Given the description of an element on the screen output the (x, y) to click on. 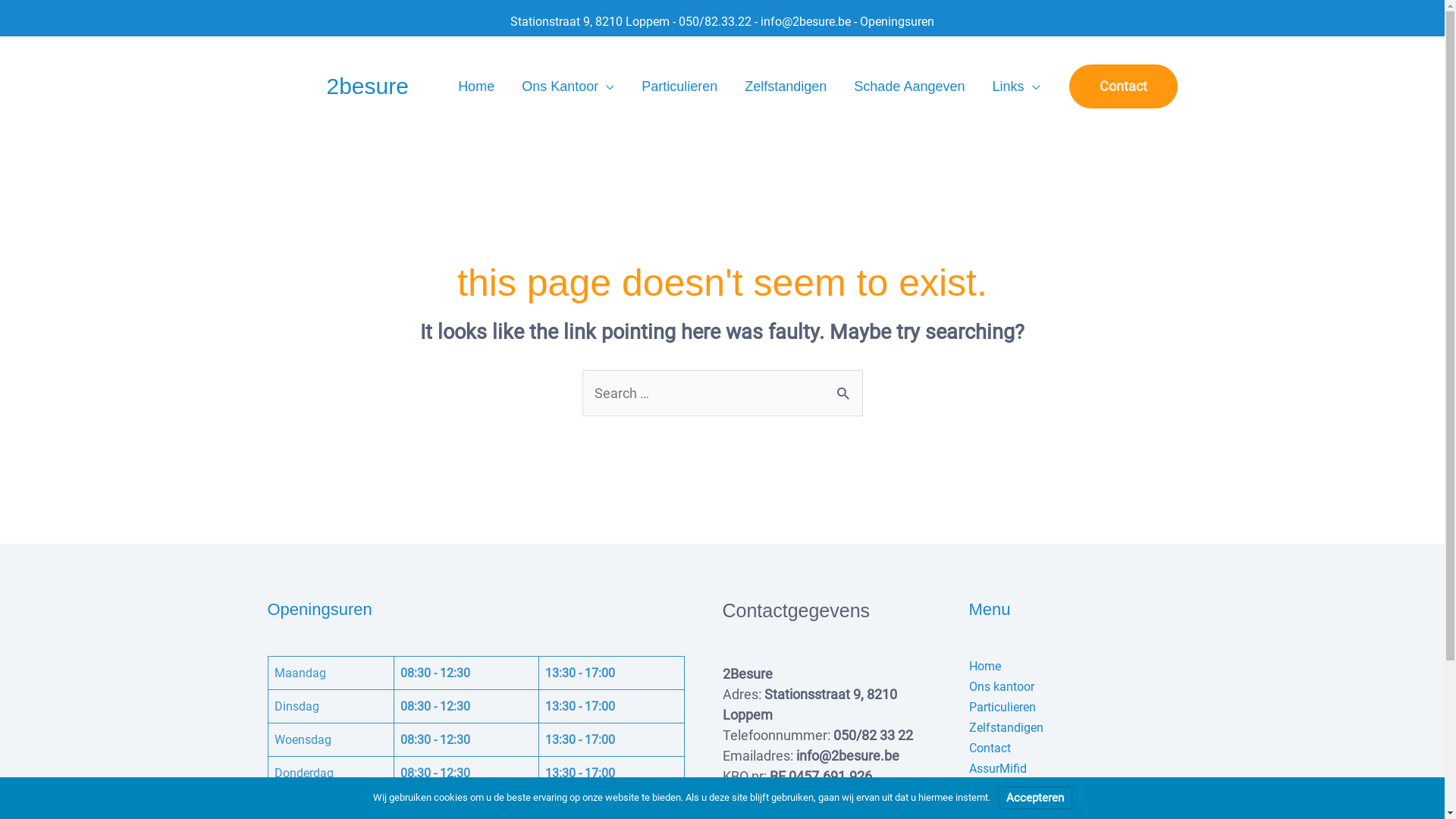
Particulieren Element type: text (679, 86)
Ons kantoor Element type: text (1001, 686)
Contact Element type: text (1123, 86)
Stationstraat 9, 8210 Loppem Element type: text (589, 21)
Home Element type: text (985, 665)
Home Element type: text (476, 86)
Schade Aangeven Element type: text (909, 86)
AssurMifid Element type: text (997, 768)
Openingsuren Element type: text (896, 21)
Ons Kantoor Element type: text (567, 86)
Zelfstandigen Element type: text (1006, 727)
info@2besure.be Element type: text (805, 21)
Search Element type: text (845, 385)
Accepteren Element type: text (1034, 797)
Particulieren Element type: text (1002, 706)
2besure Element type: text (366, 85)
Links Element type: text (1015, 86)
Zelfstandigen Element type: text (785, 86)
Contact Element type: text (989, 747)
050/82.33.22 Element type: text (714, 21)
